Given the description of an element on the screen output the (x, y) to click on. 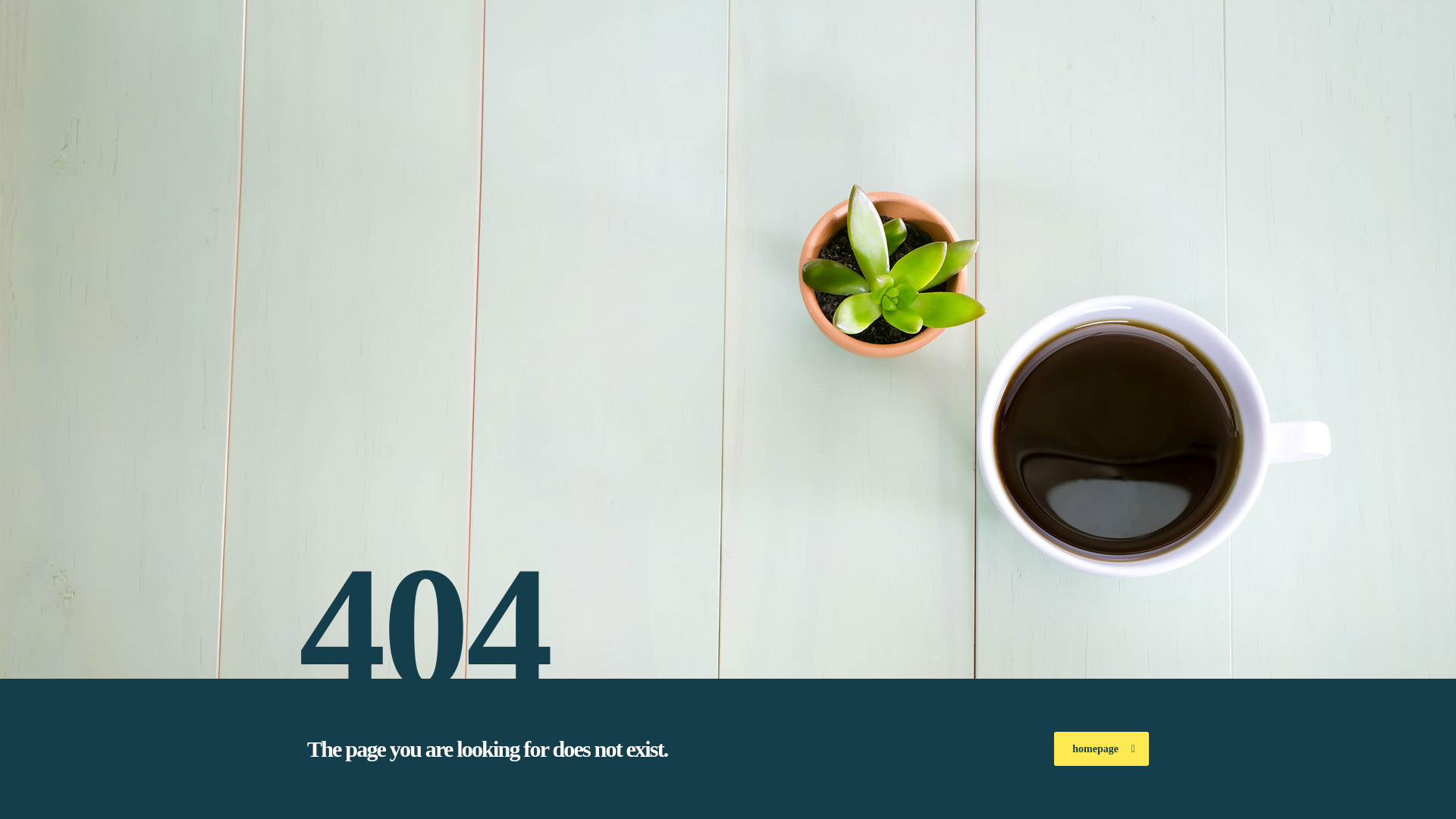
homepage (1101, 748)
